Given the description of an element on the screen output the (x, y) to click on. 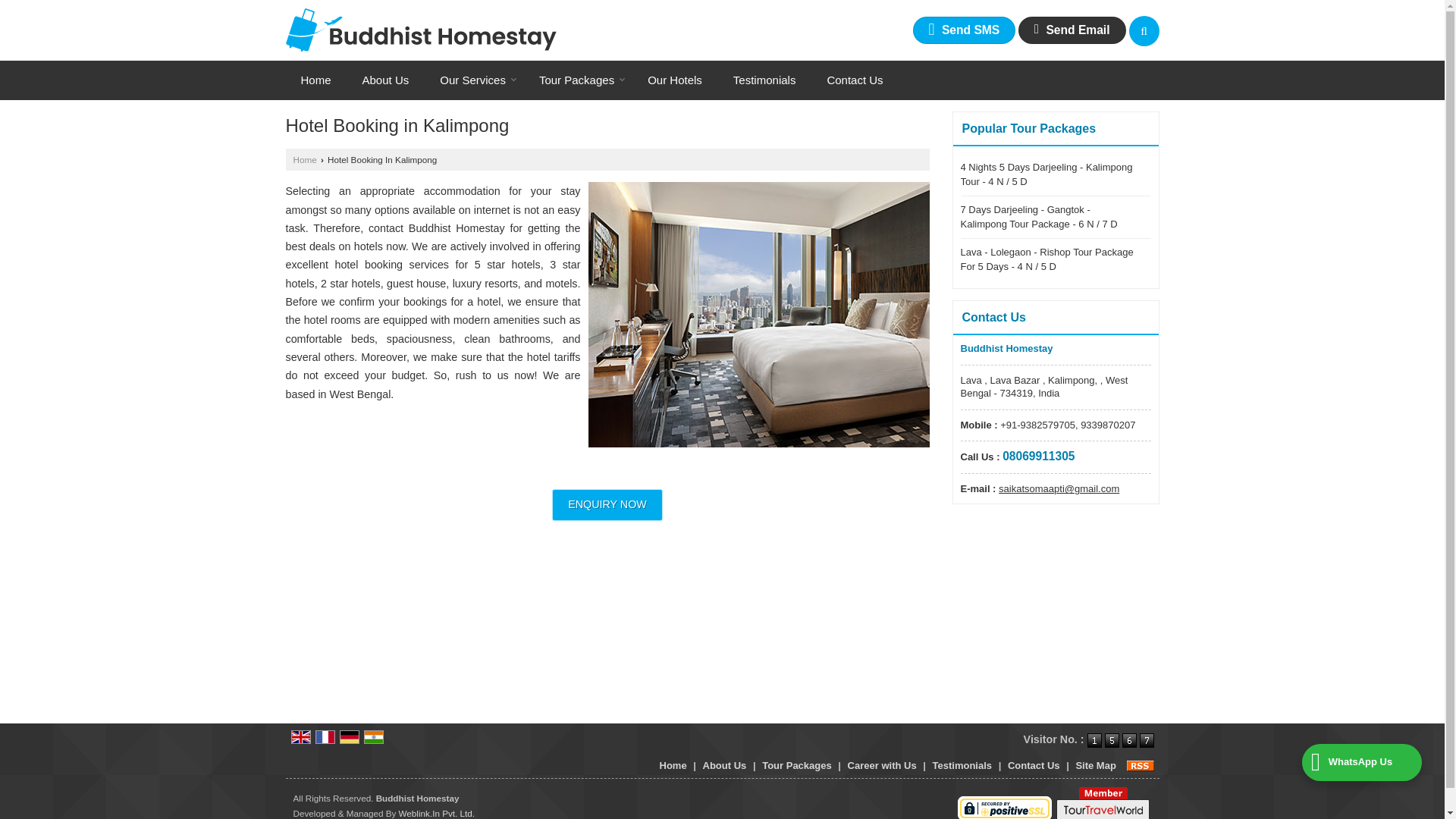
Send SMS (964, 29)
Send Email (1071, 29)
Home (315, 80)
About Us (386, 80)
Buddhist Homestay (420, 30)
Tour Packages (577, 80)
Our Hotels (674, 80)
Home (303, 159)
Home (315, 80)
ENQUIRY NOW (606, 504)
Search (1143, 30)
About Us (386, 80)
Tour Packages (577, 80)
Testimonials (763, 80)
Contact Us (854, 80)
